Given the description of an element on the screen output the (x, y) to click on. 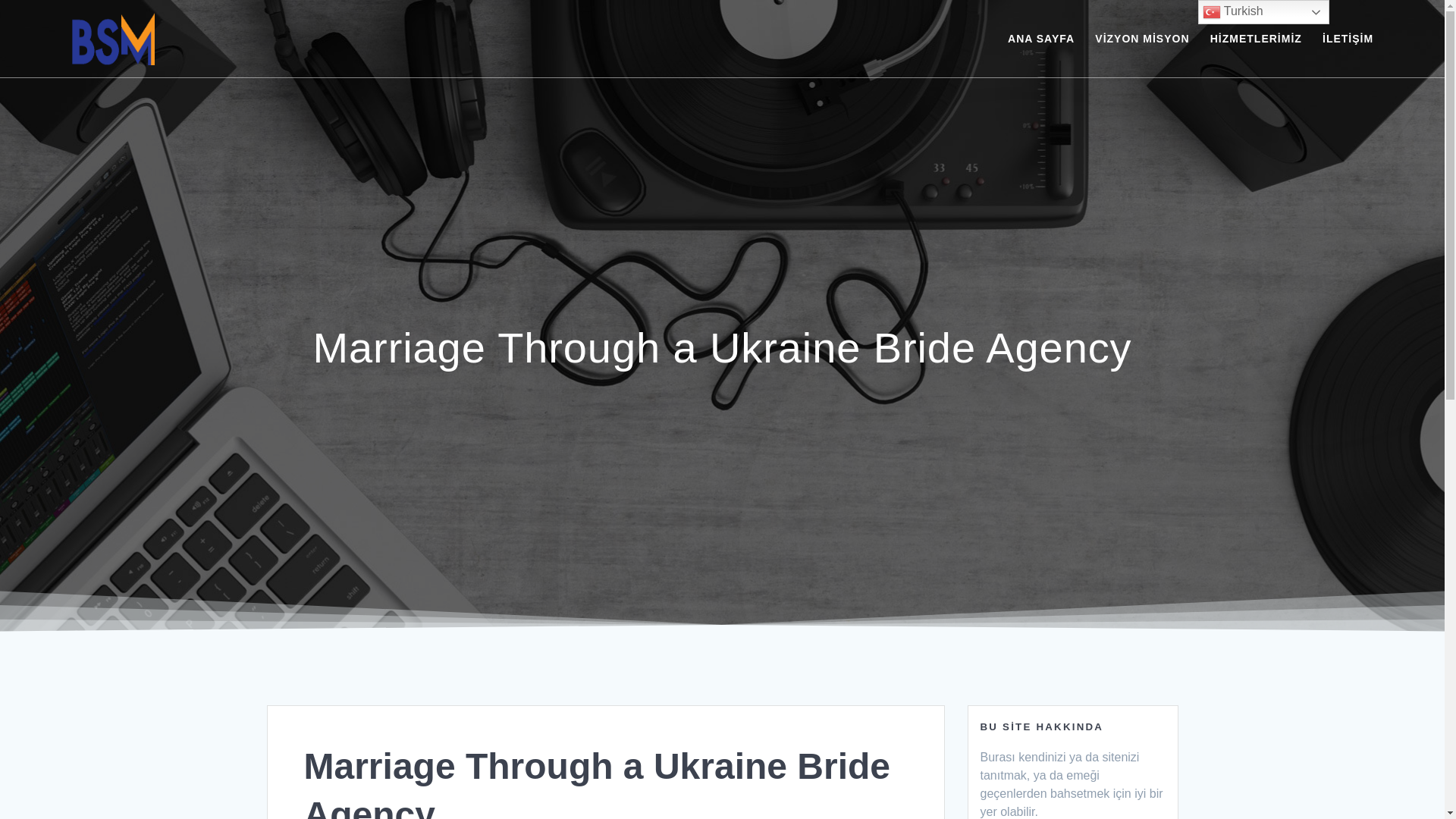
ANA SAYFA (1040, 38)
VIZYON MISYON (1141, 38)
HIZMETLERIMIZ (1255, 38)
